Given the description of an element on the screen output the (x, y) to click on. 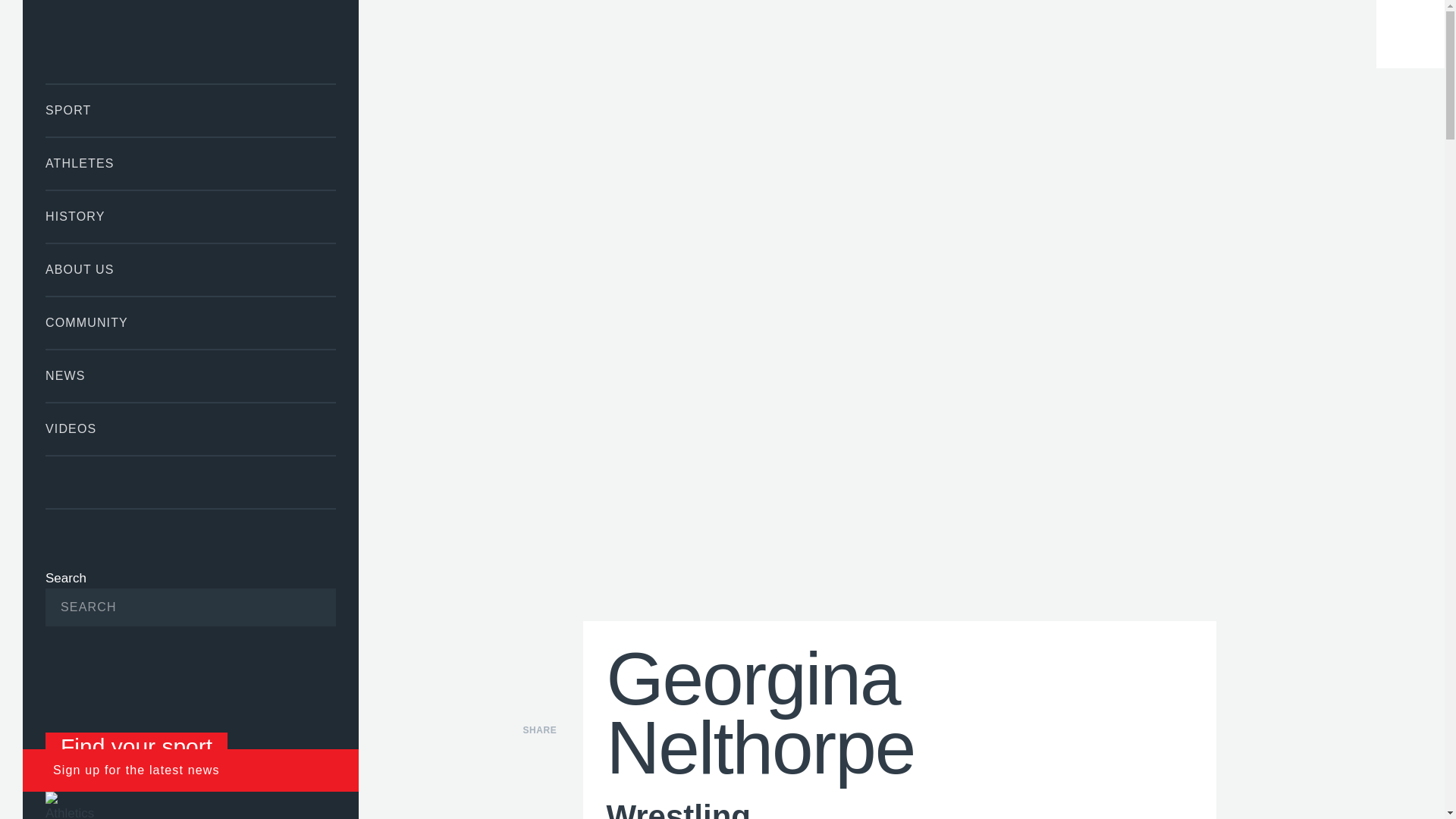
SPORT (190, 110)
Commonwealth Games England (190, 41)
Subscribe (301, 607)
Subscribe (301, 607)
ATHLETES (190, 163)
HISTORY (190, 216)
Share on Twitter (539, 792)
Share on Facebook (539, 754)
